Given the description of an element on the screen output the (x, y) to click on. 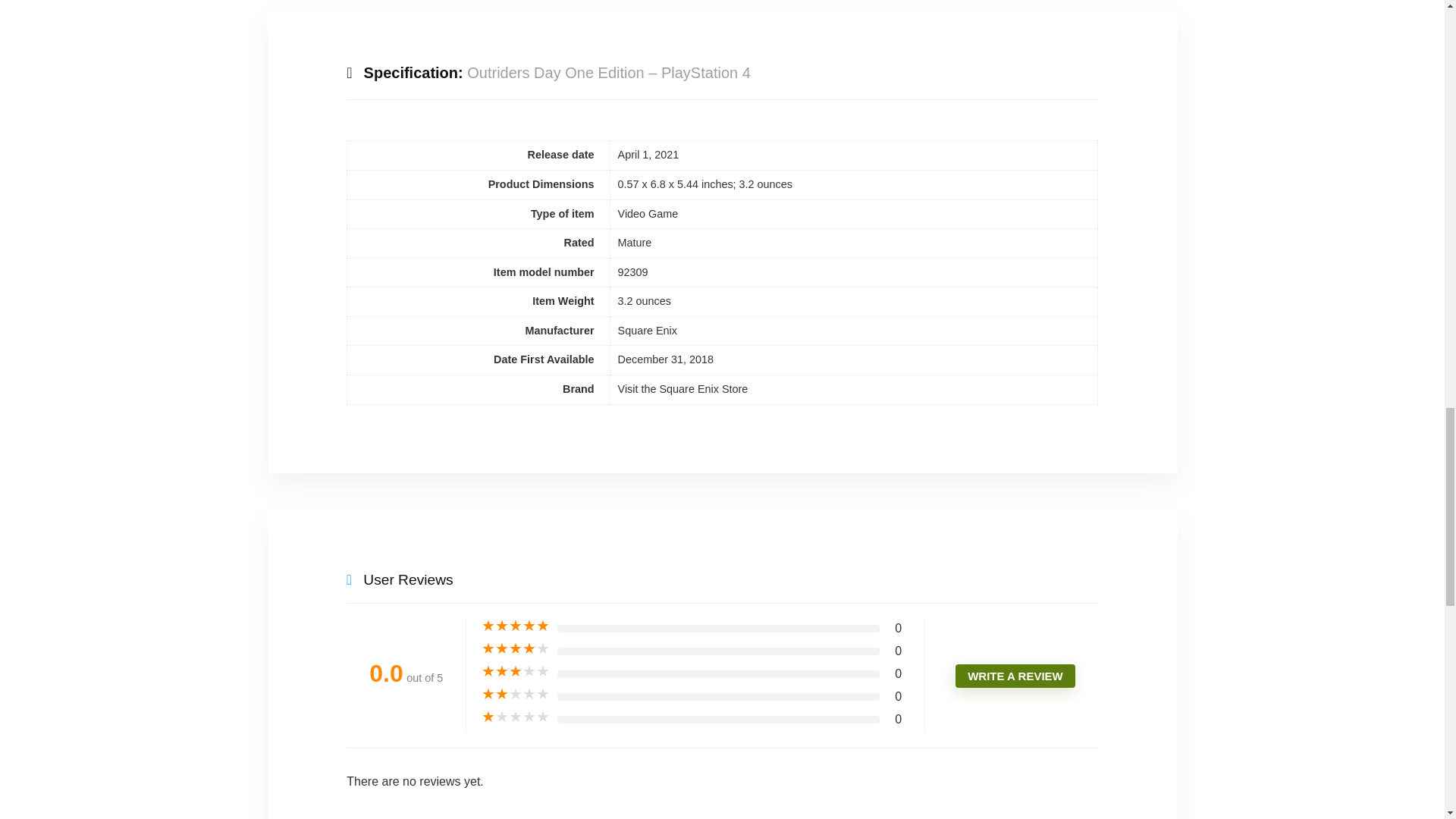
WRITE A REVIEW (1015, 675)
Rated 4 out of 5 (515, 648)
Rated 5 out of 5 (515, 626)
Rated 3 out of 5 (515, 671)
Rated 2 out of 5 (515, 694)
Rated 1 out of 5 (515, 717)
